Given the description of an element on the screen output the (x, y) to click on. 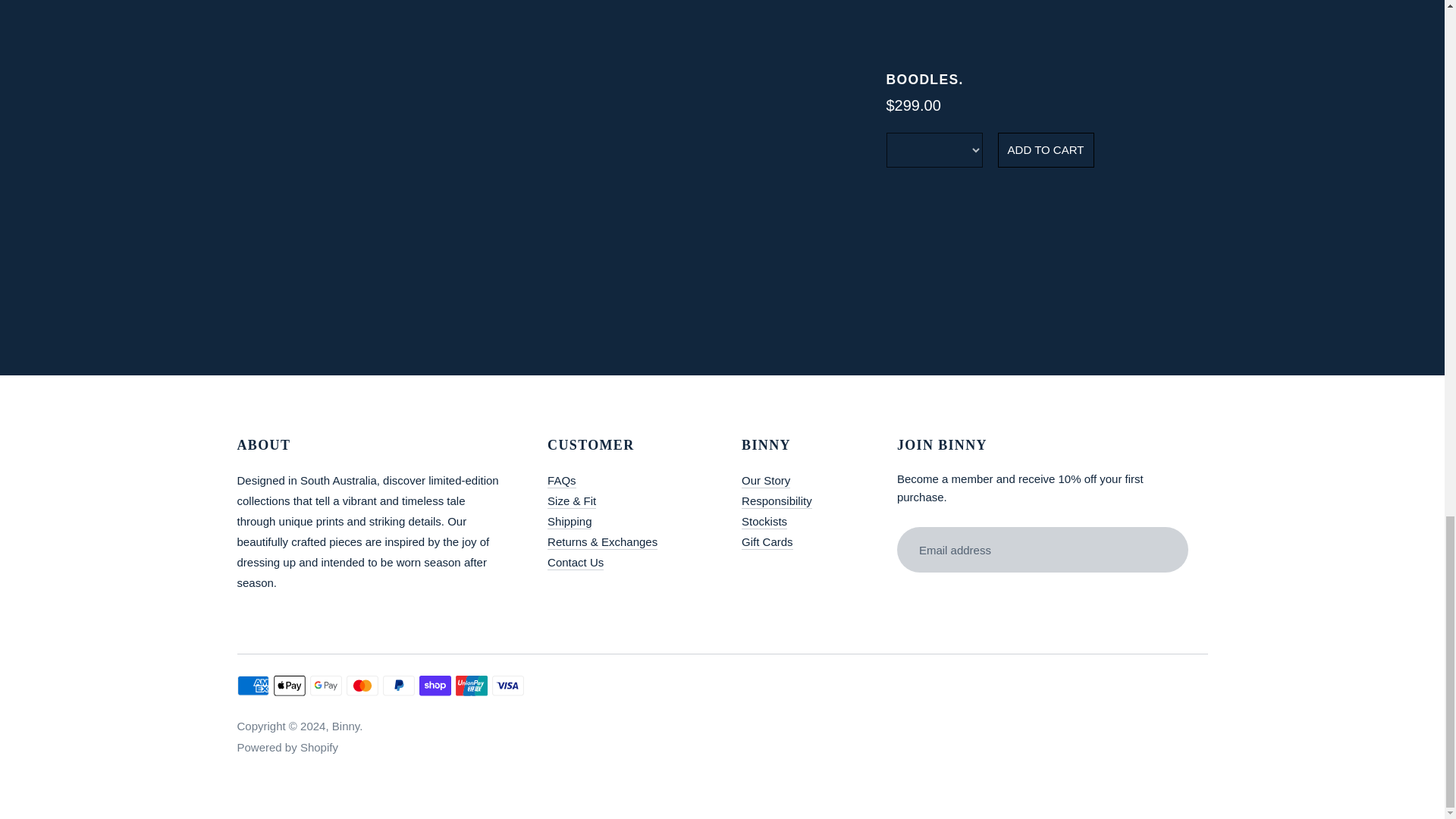
Google Pay (324, 685)
Visa (507, 685)
Shop Pay (434, 685)
Mastercard (361, 685)
PayPal (397, 685)
Apple Pay (288, 685)
American Express (251, 685)
Union Pay (470, 685)
